Given the description of an element on the screen output the (x, y) to click on. 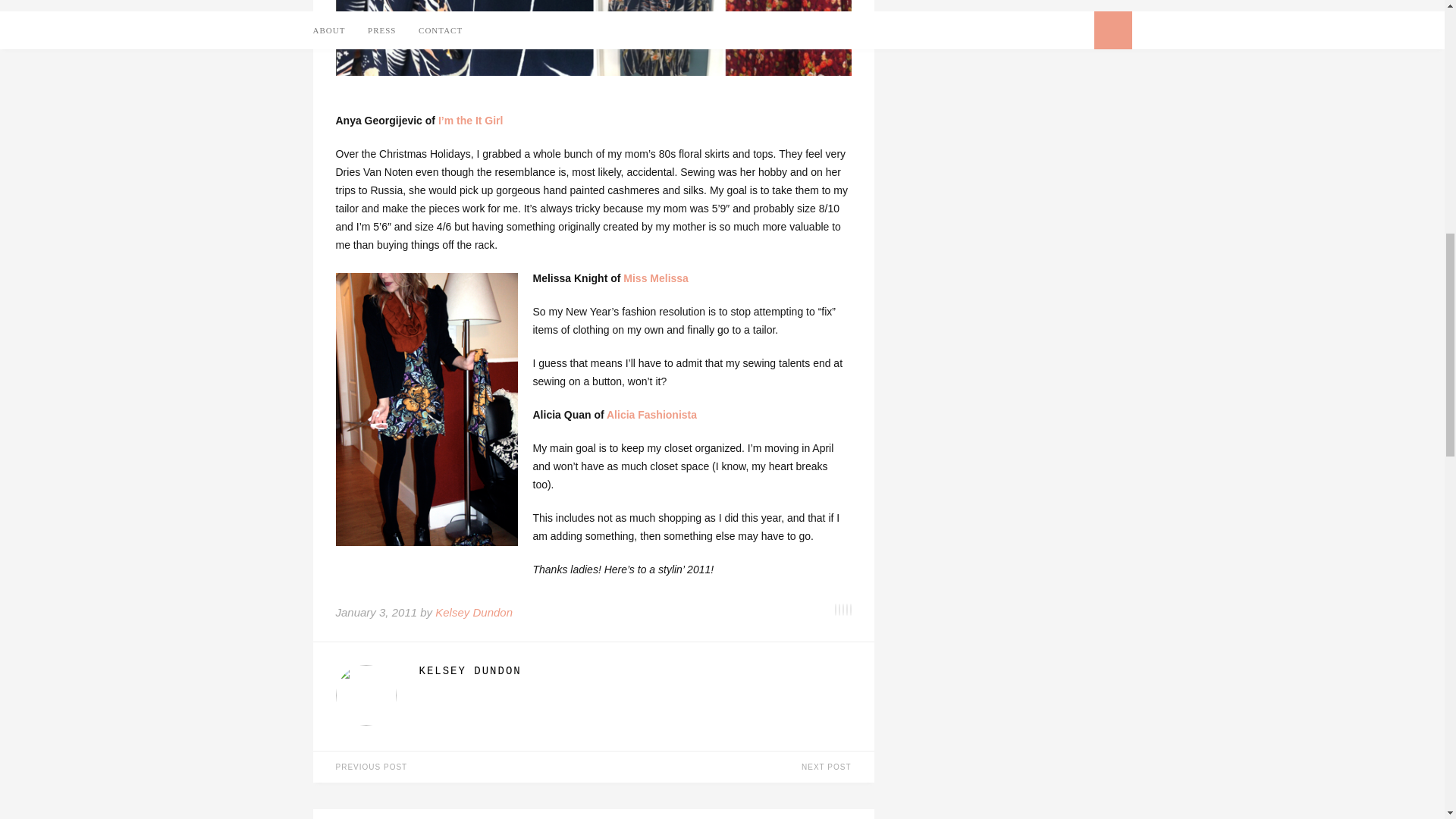
Kelsey Dundon (473, 612)
Miss Melissa (655, 277)
NEXT POST (732, 766)
Alicia Fashionista (652, 414)
PREVIOUS POST (452, 766)
Posts by Kelsey Dundon (634, 671)
im-the-it-girl-new-year-resolution-collage (592, 38)
Posts by Kelsey Dundon (473, 612)
KELSEY DUNDON (634, 671)
